Given the description of an element on the screen output the (x, y) to click on. 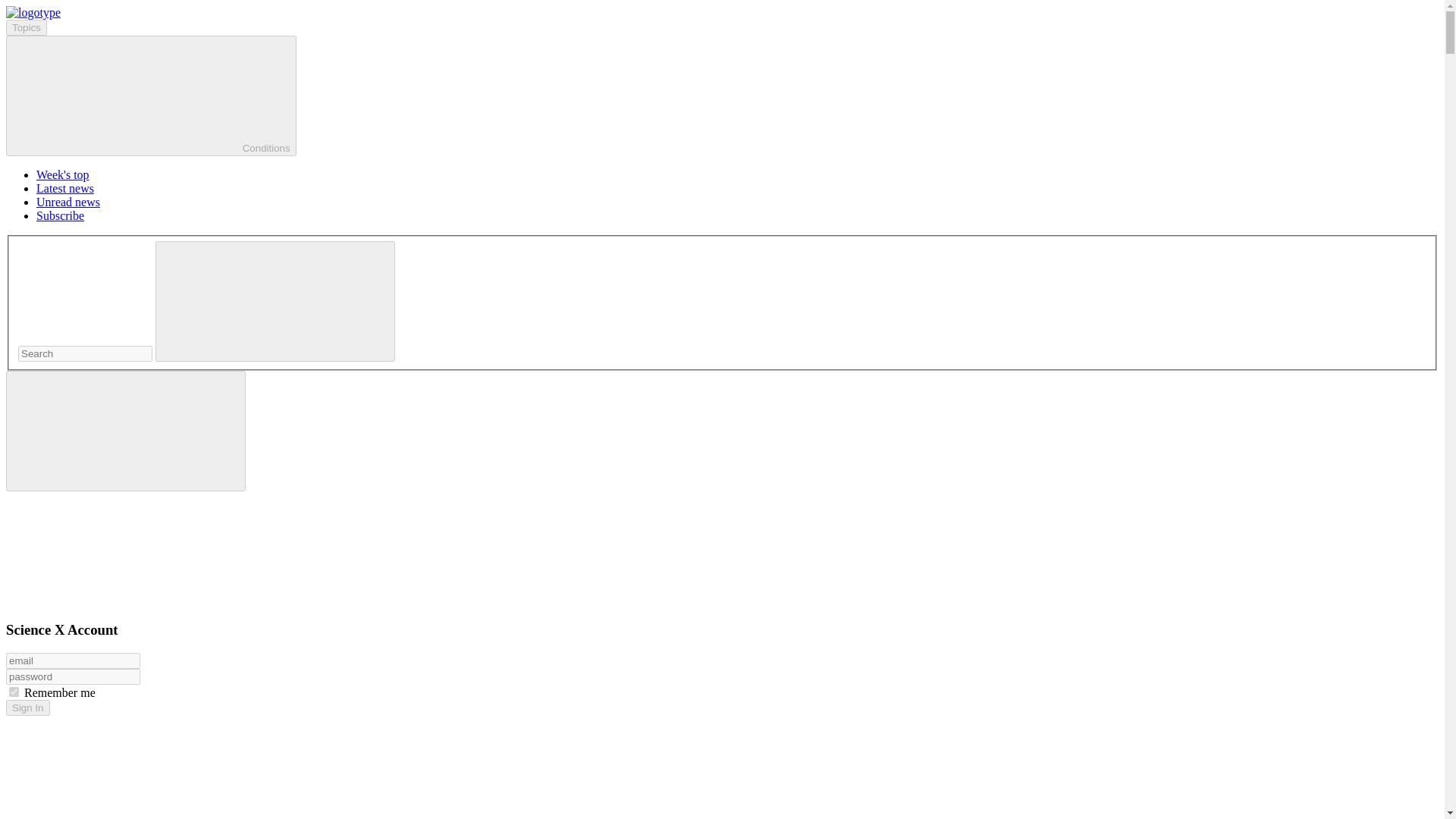
on (13, 691)
Conditions (151, 96)
Latest news (65, 187)
Unread news (68, 201)
Week's top (62, 174)
Sign In (27, 707)
Topics (25, 27)
Subscribe (60, 215)
